Given the description of an element on the screen output the (x, y) to click on. 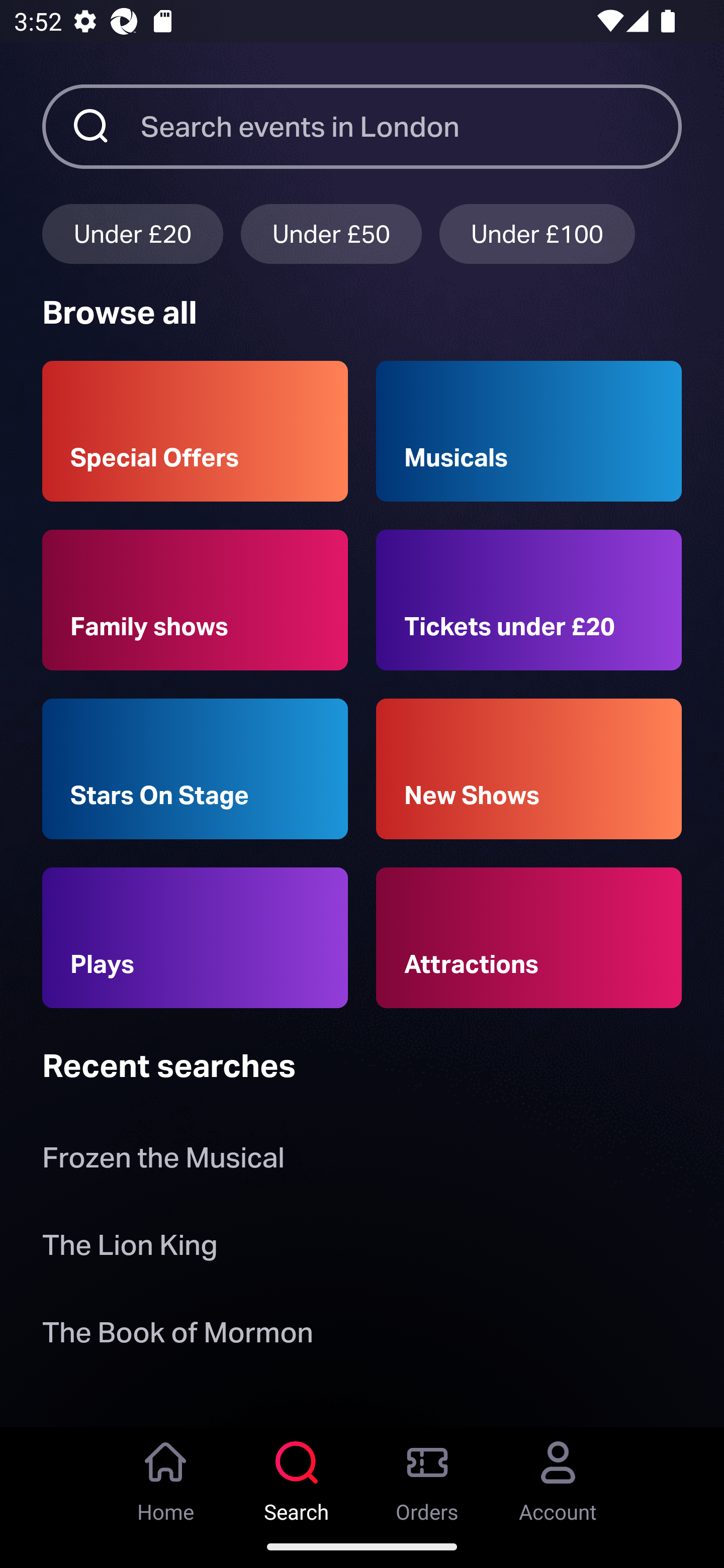
Search events in London (411, 126)
Under £20 (131, 233)
Under £50 (331, 233)
Under £100 (536, 233)
Special Offers (194, 430)
Musicals (528, 430)
Family shows (194, 600)
Tickets under £20  (528, 600)
Stars On Stage (194, 768)
New Shows (528, 768)
Plays (194, 937)
Attractions  (528, 937)
Frozen the Musical (162, 1161)
The Lion King (129, 1248)
The Book of Mormon (177, 1335)
Home (165, 1475)
Orders (427, 1475)
Account (558, 1475)
